Given the description of an element on the screen output the (x, y) to click on. 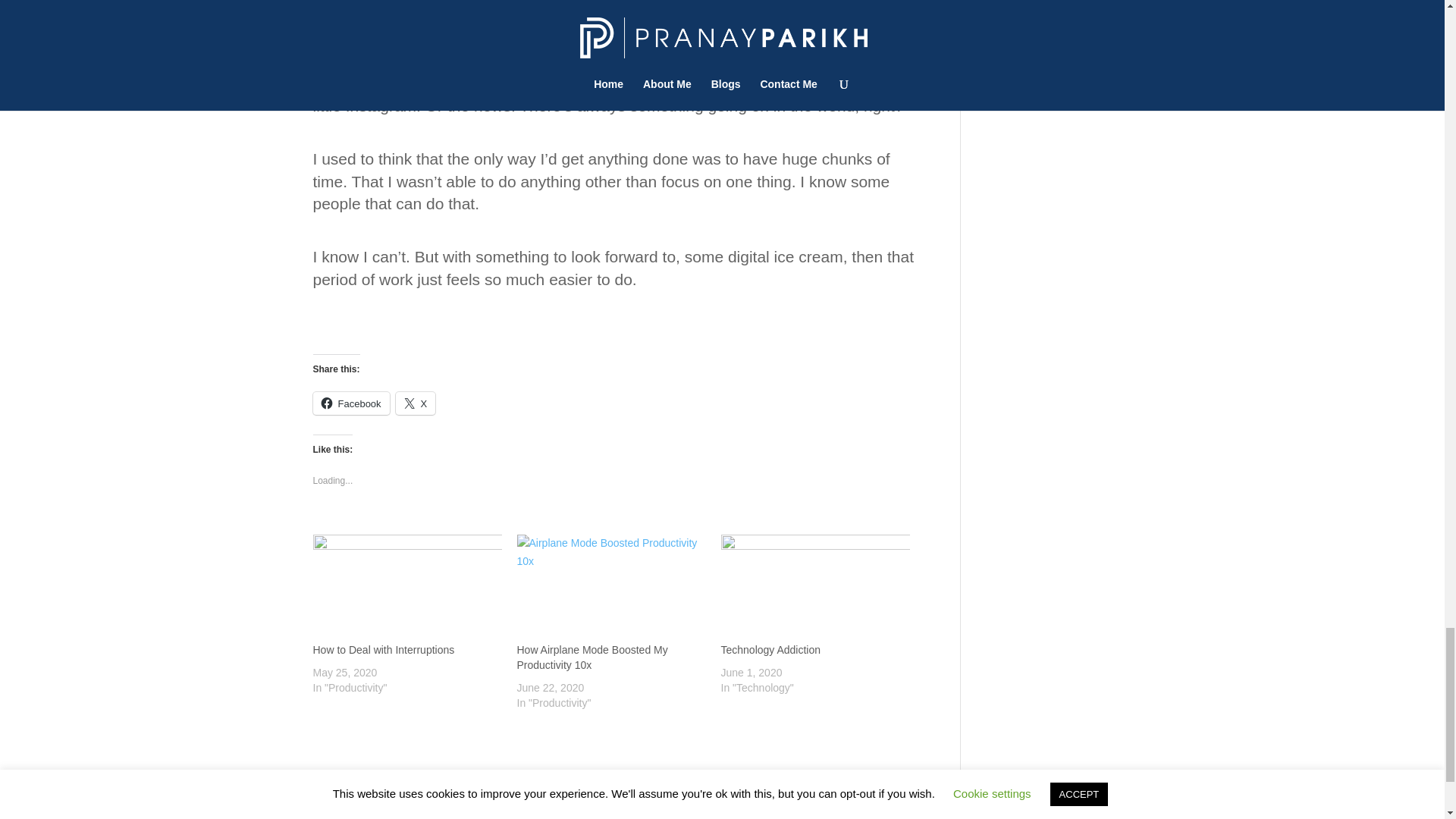
X (415, 402)
How to Deal with Interruptions (406, 588)
How to Deal with Interruptions (383, 649)
Click to share on X (415, 402)
How to Deal with Interruptions (383, 649)
How Airplane Mode Boosted My Productivity 10x (611, 588)
Technology Addiction (770, 649)
Facebook (350, 402)
How Airplane Mode Boosted My Productivity 10x (592, 656)
Technology Addiction (814, 588)
How Airplane Mode Boosted My Productivity 10x (592, 656)
Click to share on Facebook (350, 402)
Technology Addiction (770, 649)
